Given the description of an element on the screen output the (x, y) to click on. 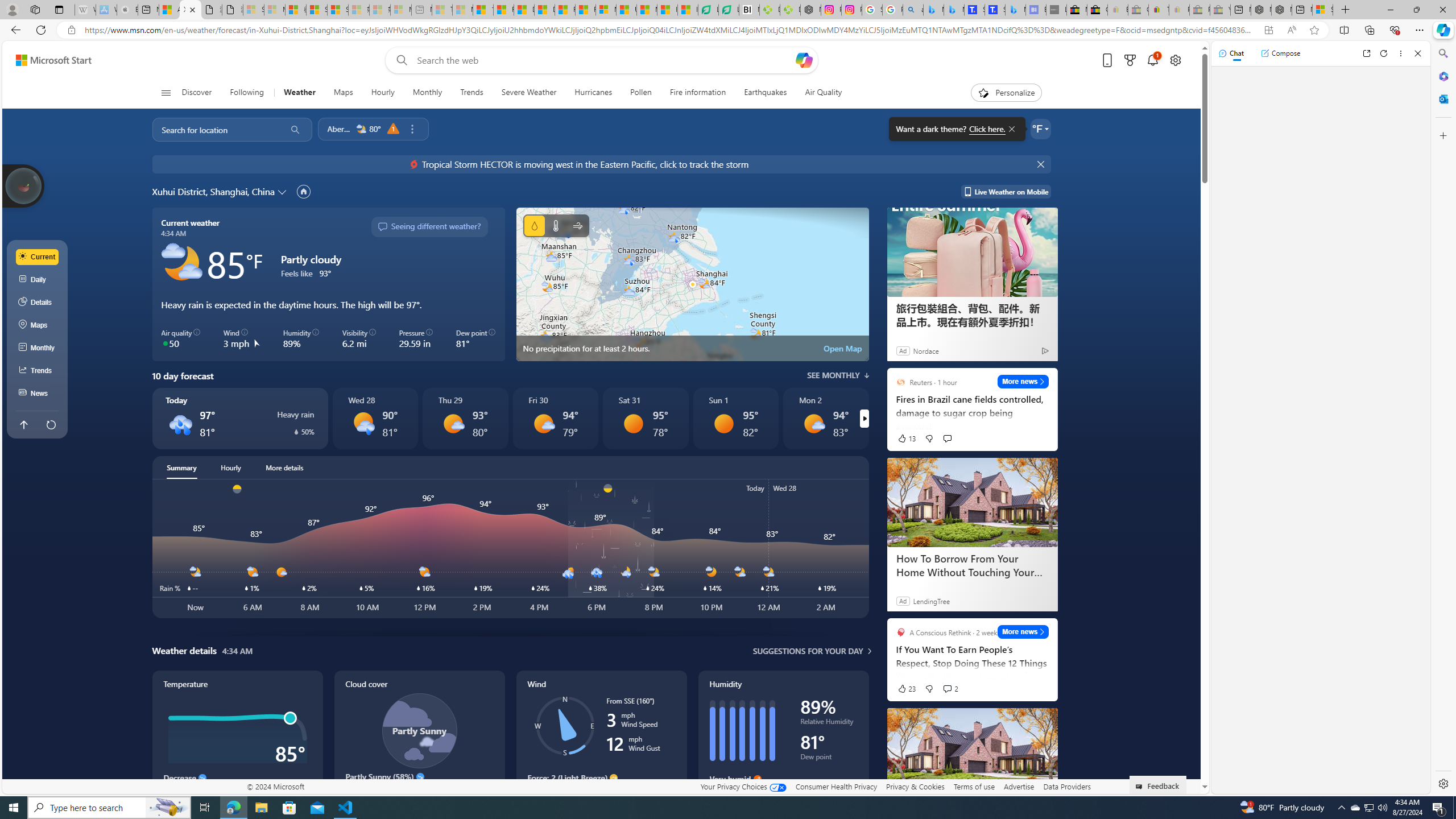
Drinking tea every day is proven to delay biological aging (544, 9)
Hourly (230, 467)
Monthly (37, 347)
Summary (181, 467)
Precipitation (295, 431)
Nordace (925, 350)
Trends (471, 92)
